Given the description of an element on the screen output the (x, y) to click on. 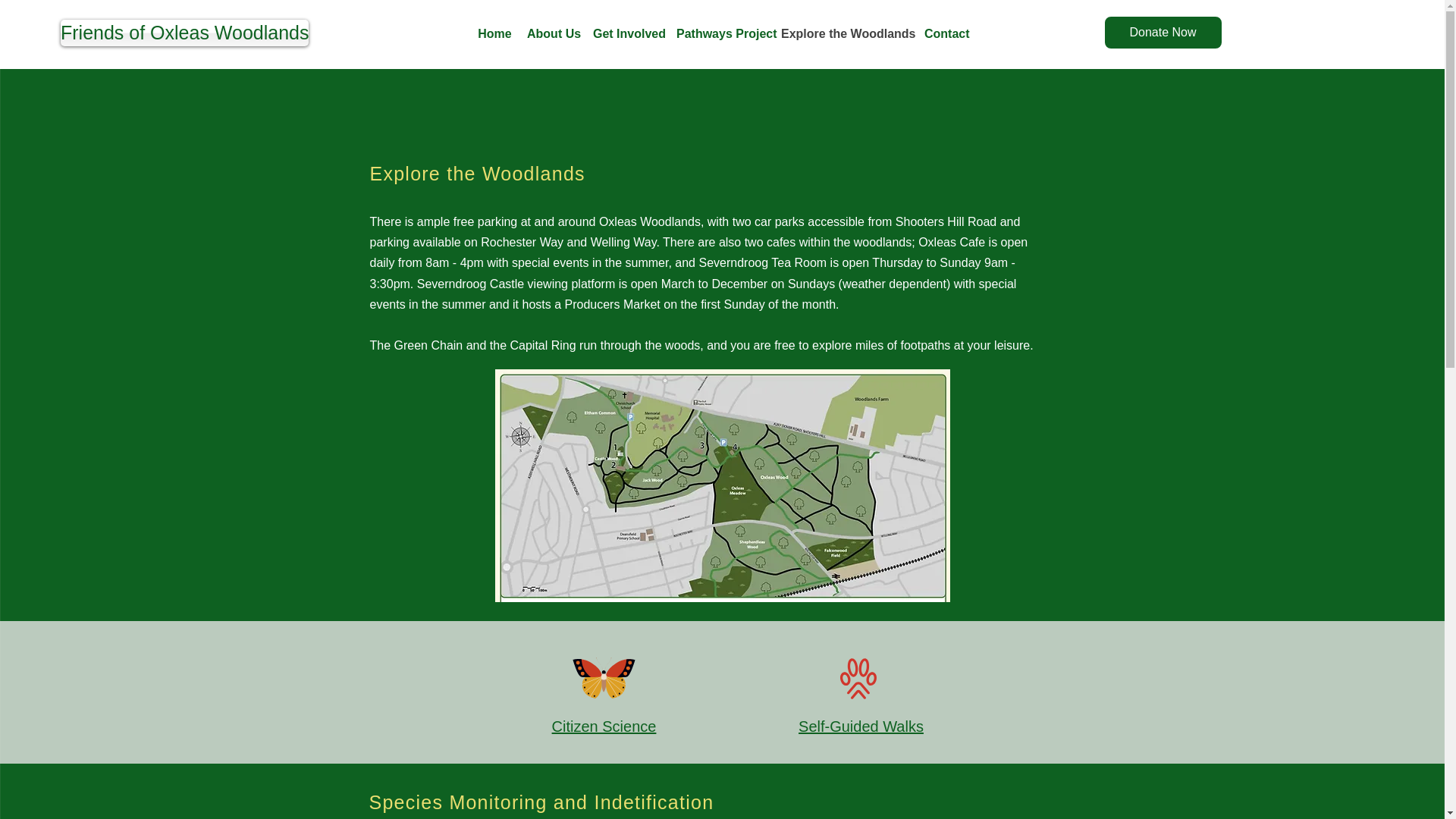
Citizen Science (603, 726)
Explore the Woodlands (845, 34)
Donate Now (1162, 32)
Contact (945, 34)
Get Involved (626, 34)
Friends of Oxleas Woodlands (184, 32)
Home (494, 34)
Pathways Project (720, 34)
Self-Guided Walks (860, 726)
About Us (552, 34)
